Given the description of an element on the screen output the (x, y) to click on. 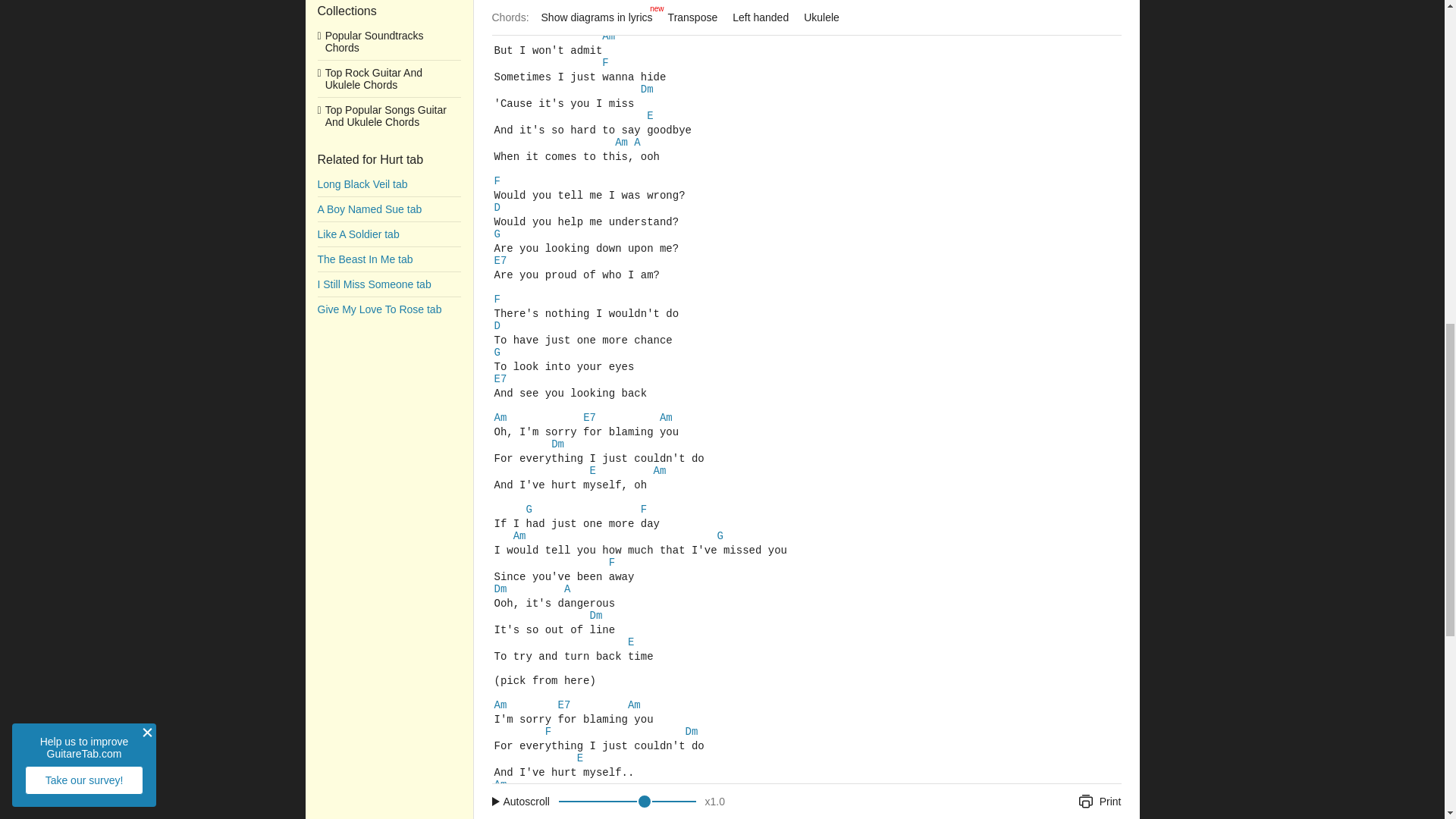
Give My Love To Rose tab (388, 134)
I Still Miss Someone tab (388, 109)
A Boy Named Sue tab (388, 34)
Long Black Veil tab (388, 84)
Like A Soldier tab (388, 11)
